Given the description of an element on the screen output the (x, y) to click on. 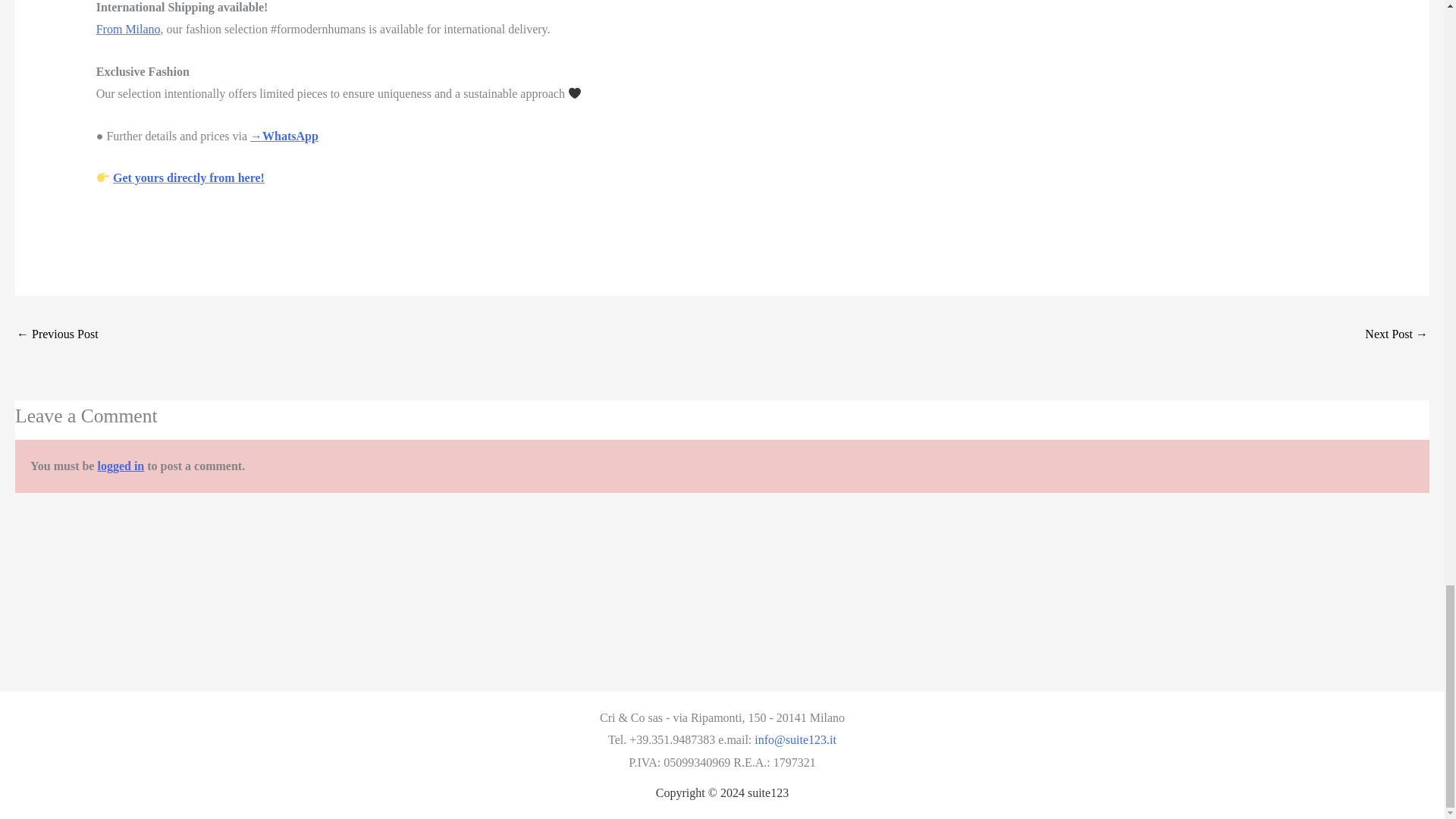
Facebook (123, 220)
Email (105, 220)
logged in (120, 465)
Tired of social media? (1396, 335)
Protests in Bangladesh (57, 335)
From Milano (128, 29)
Email (105, 220)
Twitter (141, 220)
Facebook (123, 220)
Twitter (141, 220)
Get yours directly from here! (188, 177)
